Given the description of an element on the screen output the (x, y) to click on. 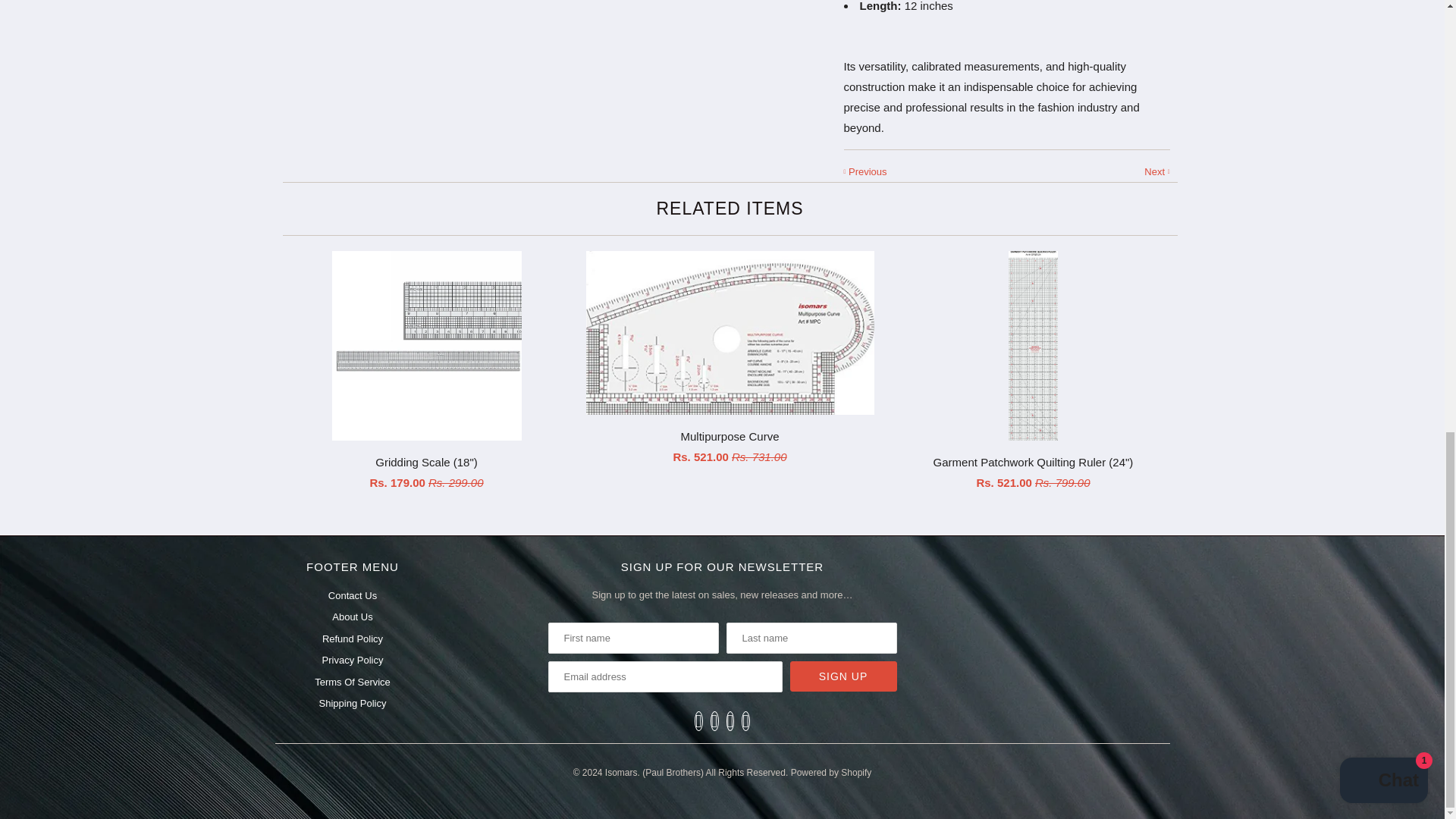
Email Isomars (745, 721)
Sign Up (843, 675)
Isomars on Facebook (698, 721)
Isomars on Instagram (730, 721)
Isomars on YouTube (714, 721)
